Given the description of an element on the screen output the (x, y) to click on. 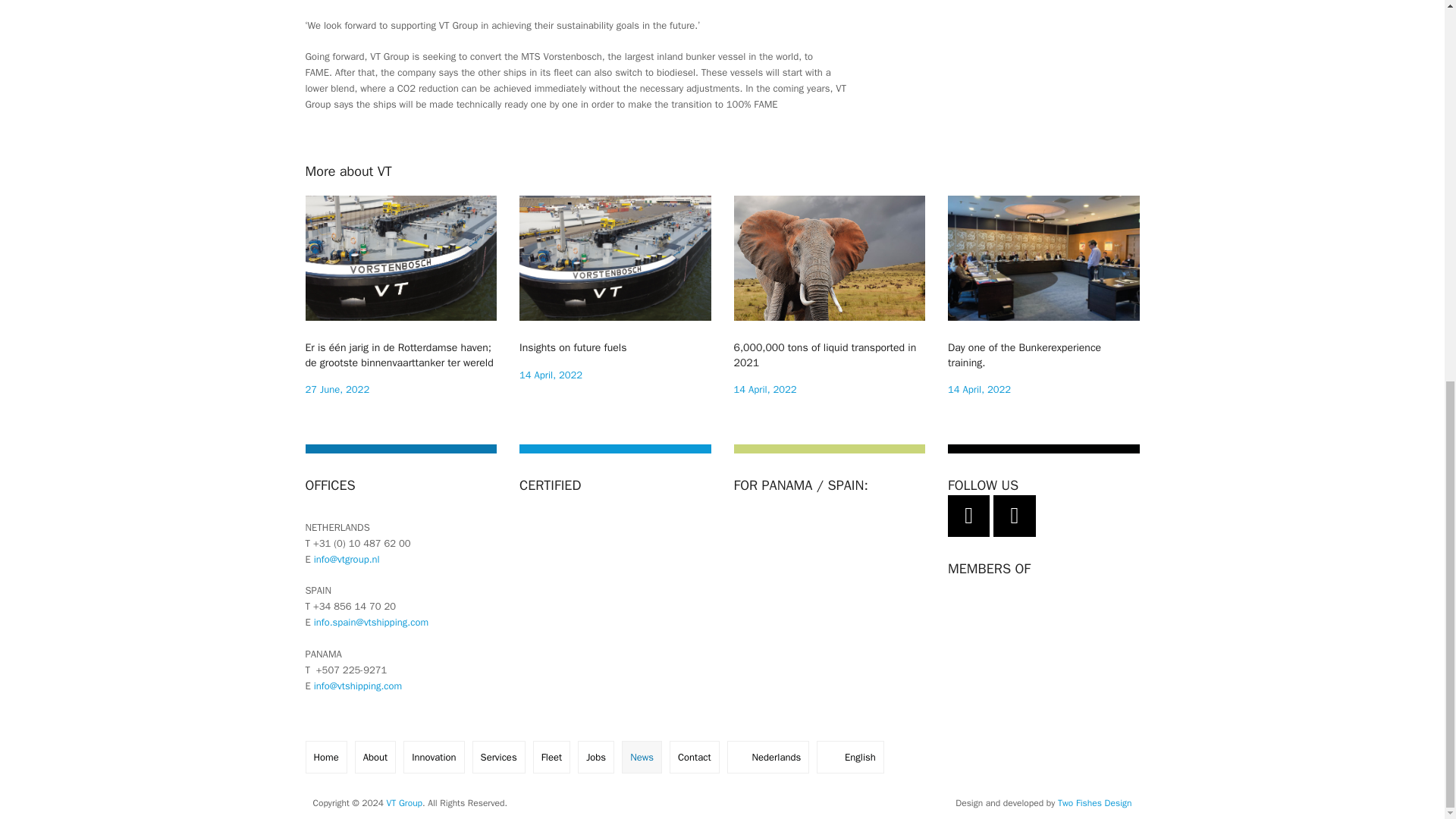
Youtube (829, 296)
LinkedIn (1013, 516)
Iso 9001 Bureau Veritas Logo 03439e9b3e Seeklogo.com (968, 516)
Nederlands (817, 549)
Two Fishes Design (615, 289)
Nederlands (767, 757)
VT Group (1095, 802)
Jobs (767, 757)
English (1043, 296)
About (404, 802)
Services (596, 757)
English (849, 757)
